Given the description of an element on the screen output the (x, y) to click on. 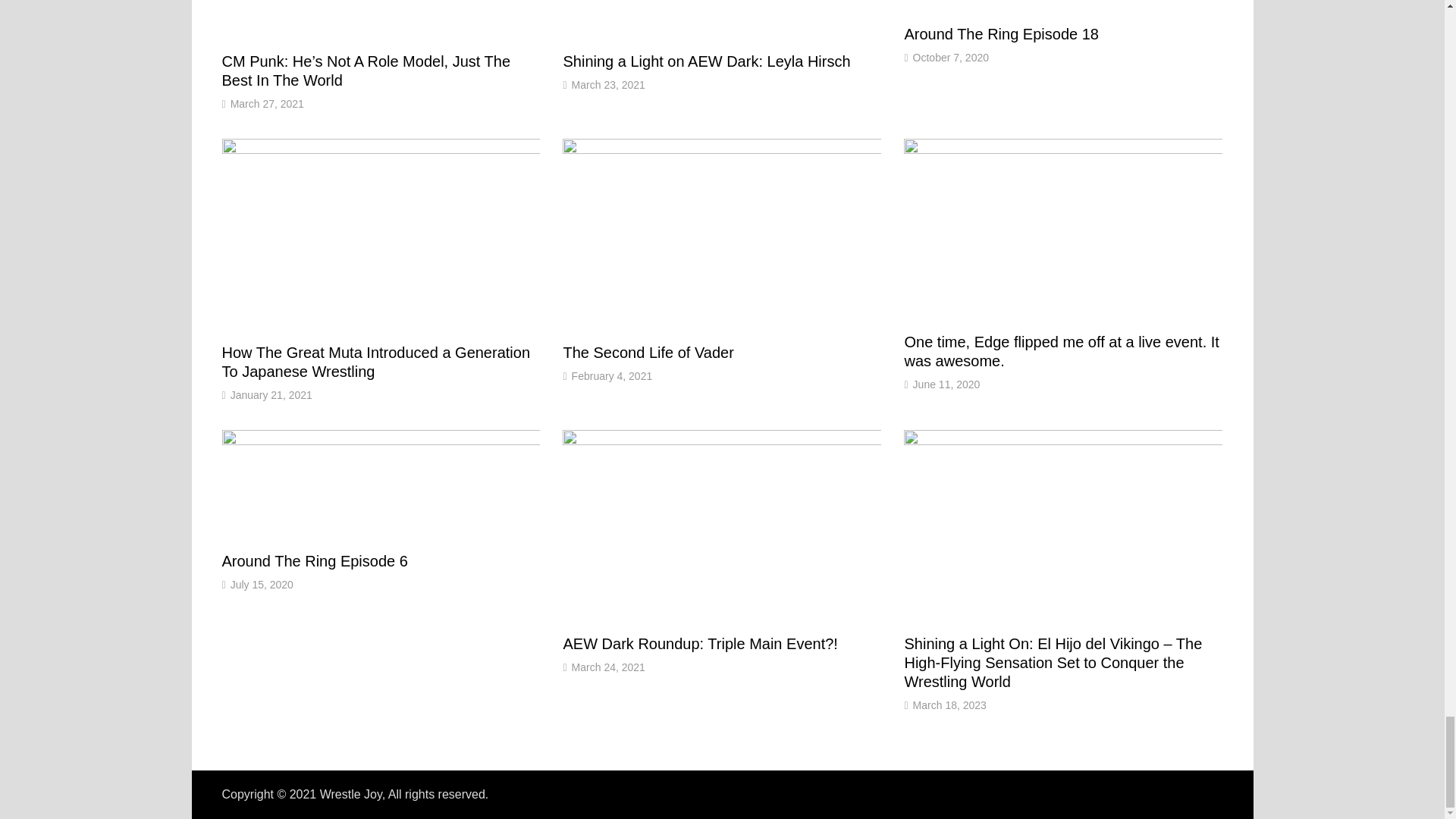
Around The Ring Episode 18 (1000, 33)
The Second Life of Vader (647, 352)
Shining a Light on AEW Dark: Leyla Hirsch (706, 61)
AEW Dark Roundup: Triple Main Event?! (699, 643)
Around The Ring Episode 6 (314, 560)
